Given the description of an element on the screen output the (x, y) to click on. 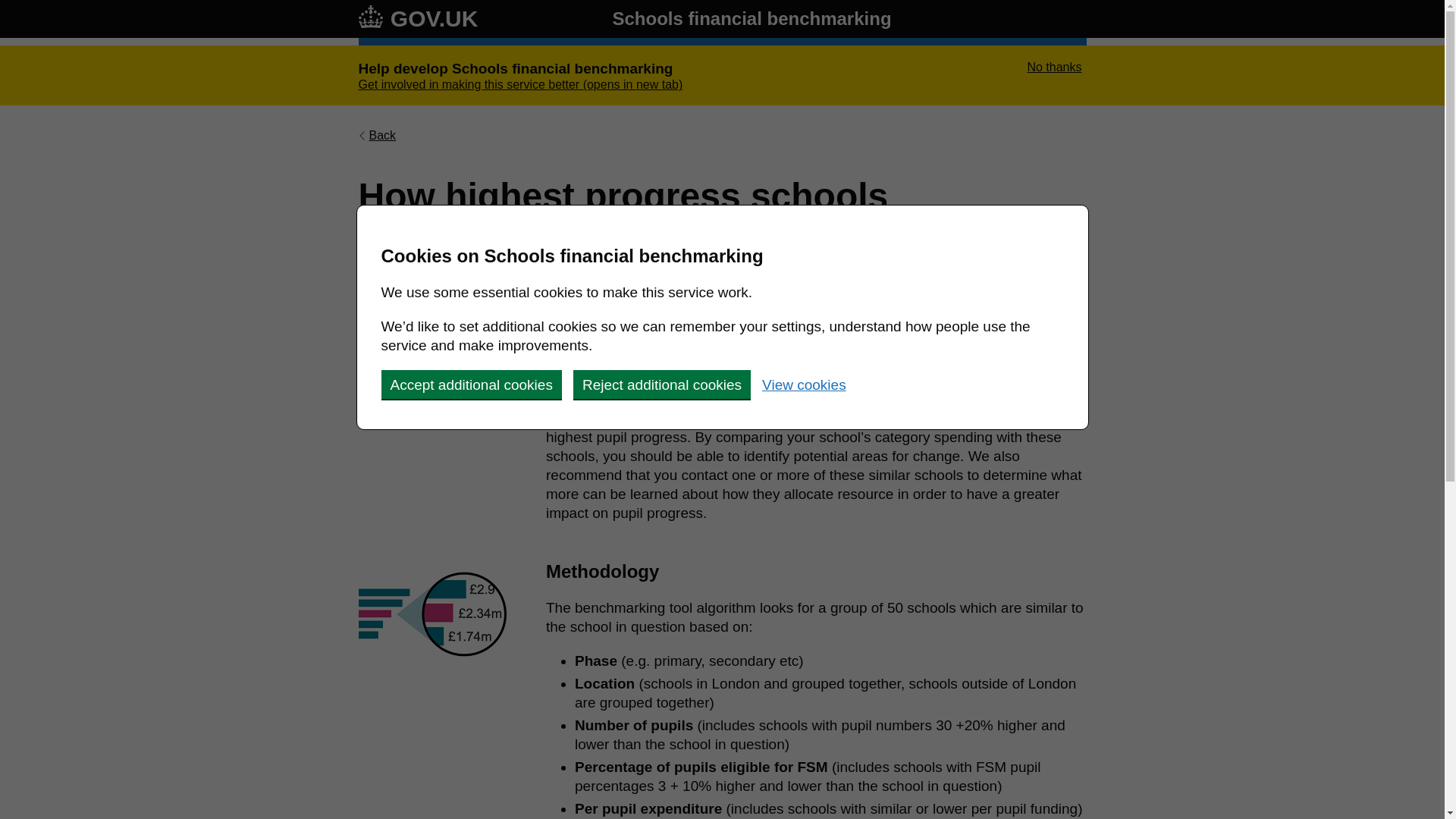
Skip to main content (11, 7)
Get involved form will open in a new page (520, 84)
Reject additional cookies (662, 384)
View cookies (803, 384)
GOV.UK (417, 18)
Schools financial benchmarking (751, 18)
Back (377, 135)
Accept additional cookies (470, 384)
